Given the description of an element on the screen output the (x, y) to click on. 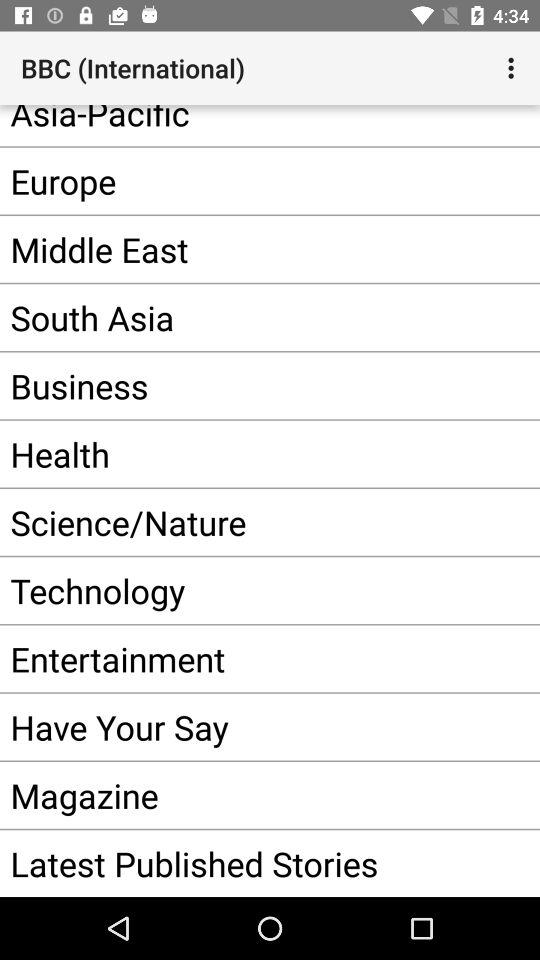
tap item below the asia-pacific (240, 180)
